Given the description of an element on the screen output the (x, y) to click on. 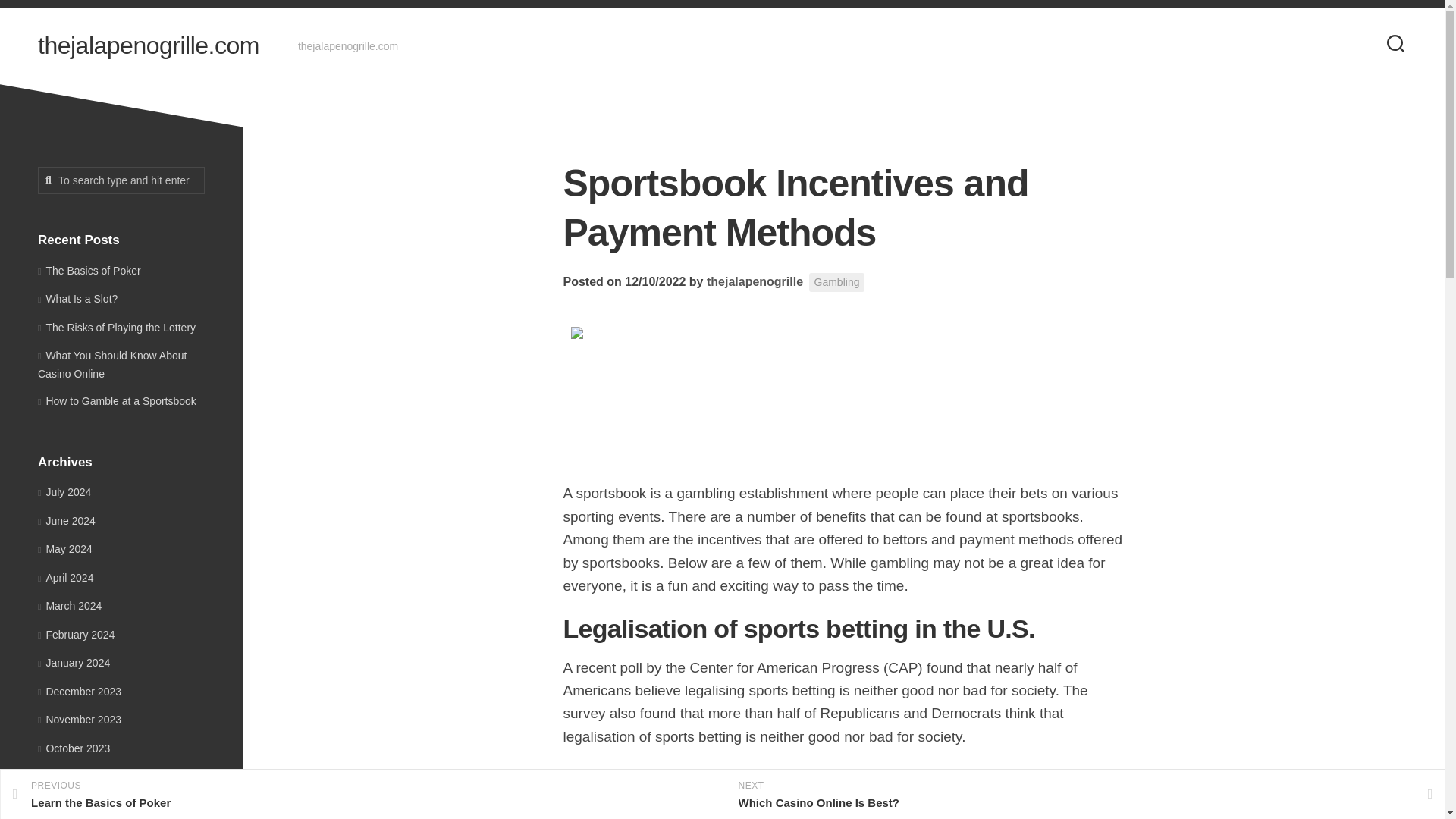
April 2024 (65, 577)
How to Gamble at a Sportsbook (116, 400)
Posts by thejalapenogrille (754, 281)
Gambling (361, 794)
August 2023 (836, 281)
To search type and hit enter (70, 805)
thejalapenogrille.com (121, 180)
March 2024 (148, 44)
October 2023 (69, 605)
May 2024 (73, 747)
What Is a Slot? (65, 548)
February 2024 (77, 298)
September 2023 (76, 633)
June 2024 (80, 776)
